Given the description of an element on the screen output the (x, y) to click on. 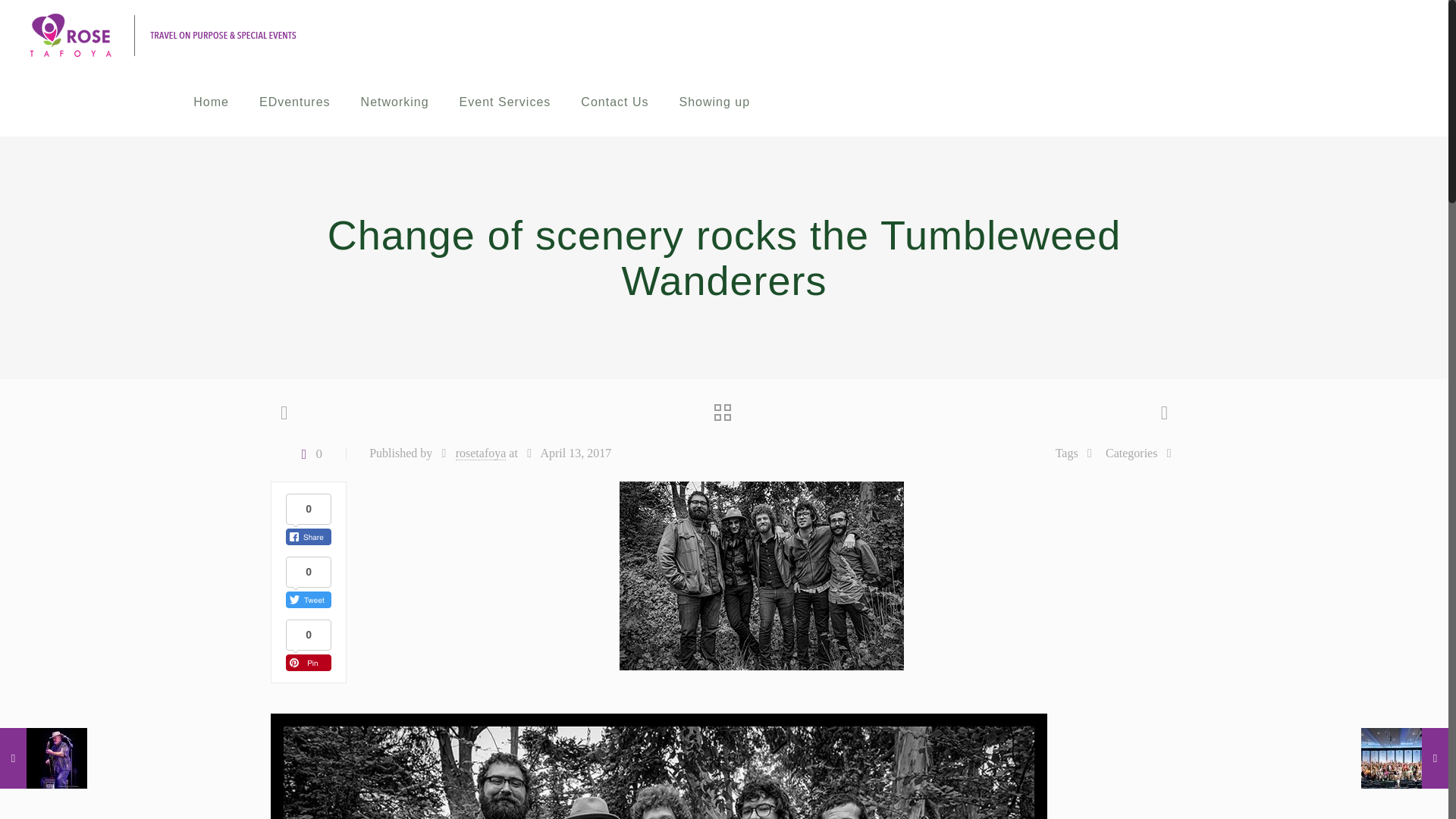
0 (307, 453)
Event Services (505, 101)
EDventures (295, 101)
rosetafoya (480, 453)
Rose Tafoya (163, 33)
Showing up (714, 101)
Home (210, 101)
Networking (395, 101)
Contact Us (614, 101)
